Given the description of an element on the screen output the (x, y) to click on. 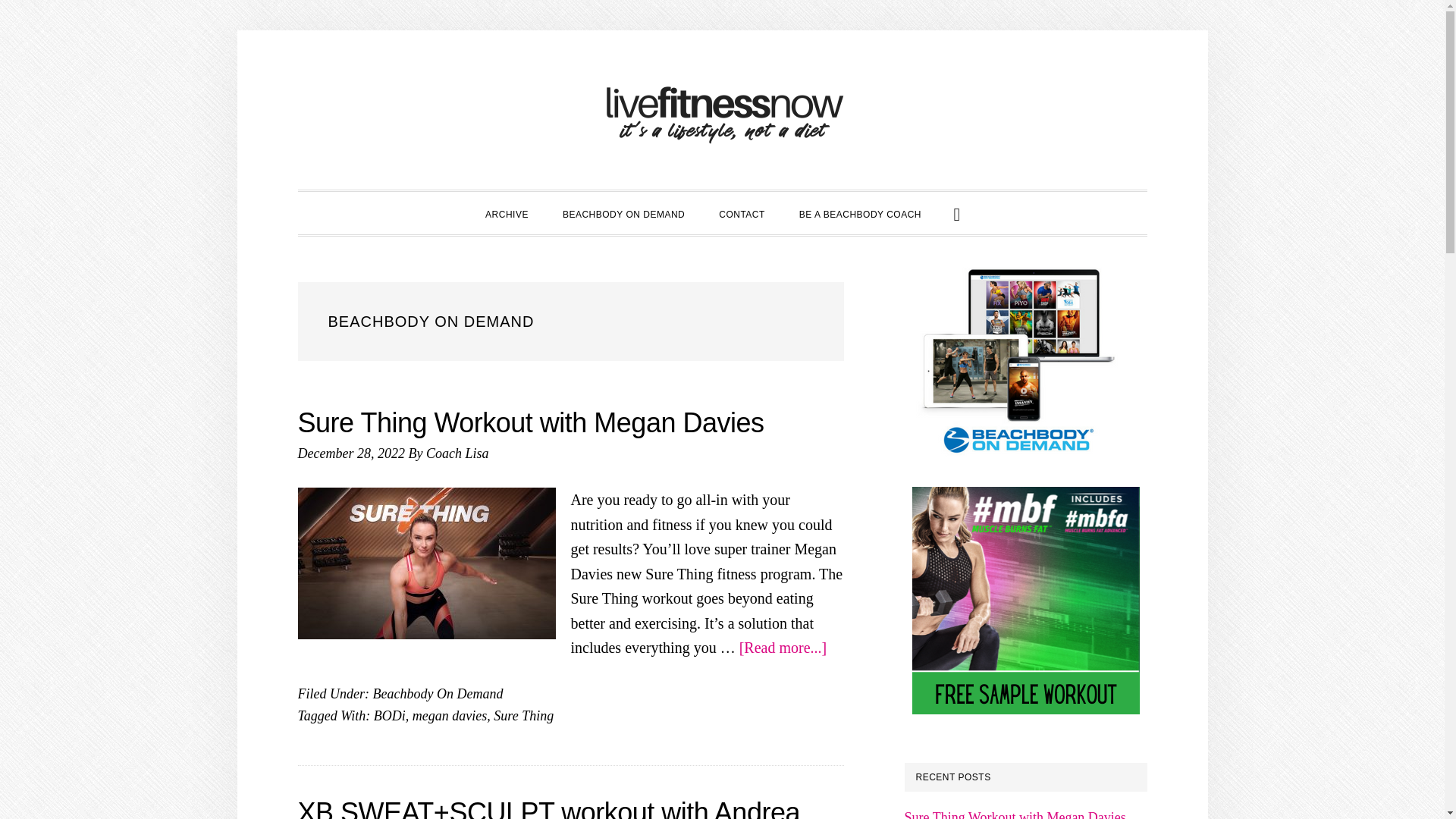
ARCHIVE (506, 212)
Sure Thing Workout with Megan Davies (529, 422)
BEACHBODY ON DEMAND (623, 212)
BODi (390, 715)
BE A BEACHBODY COACH (860, 212)
Beachbody On Demand (437, 693)
megan davies (449, 715)
Coach Lisa (457, 453)
CONTACT (741, 212)
LIVE FITNESS NOW (721, 113)
Sure Thing (523, 715)
